Given the description of an element on the screen output the (x, y) to click on. 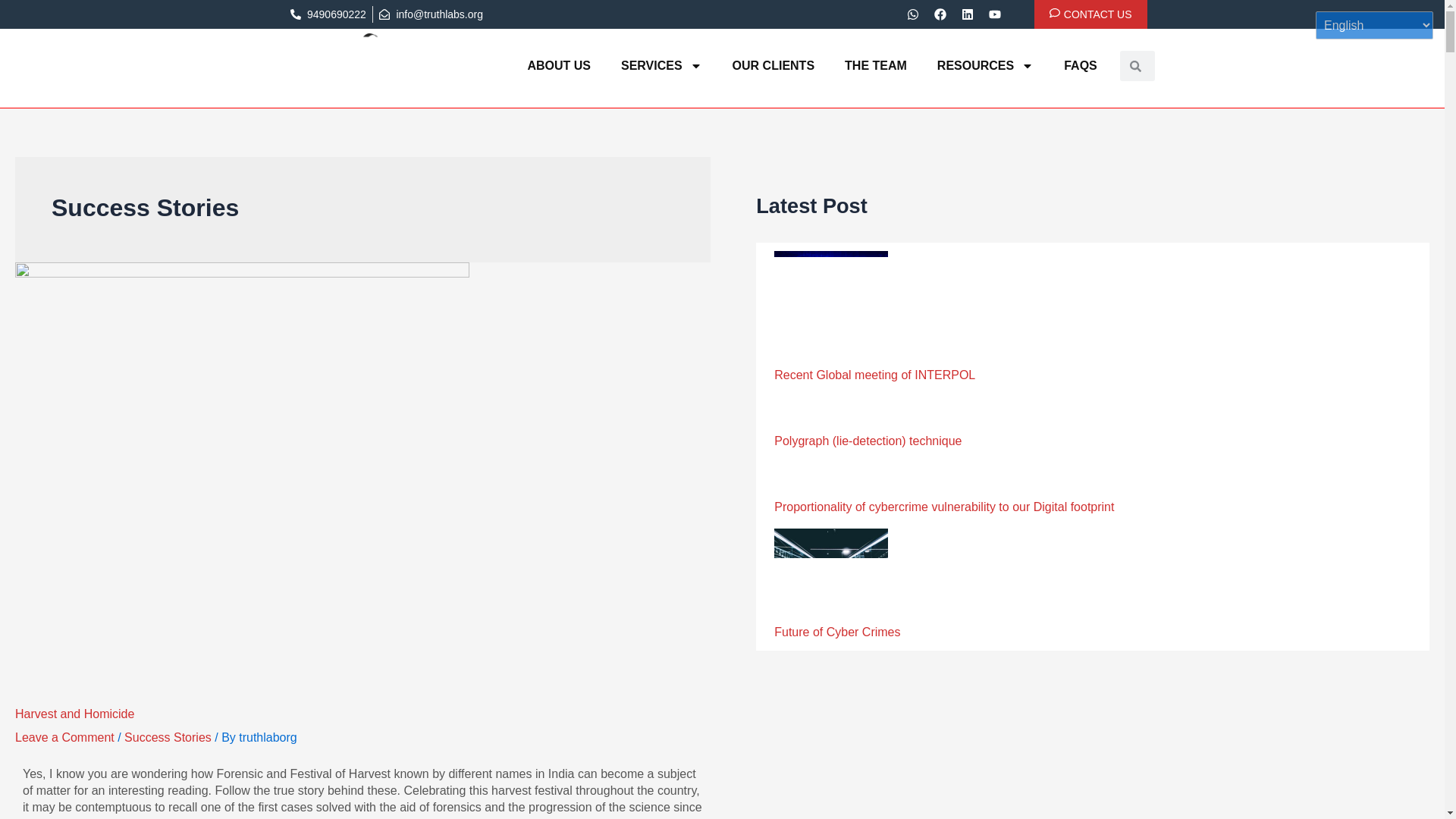
View all posts by truthlaborg (267, 737)
THE TEAM (875, 65)
Facebook (940, 14)
FAQS (1080, 65)
CONTACT US (1090, 14)
Linkedin (967, 14)
Whatsapp (912, 14)
ABOUT US (558, 65)
SERVICES (661, 65)
RESOURCES (984, 65)
OUR CLIENTS (773, 65)
Youtube (994, 14)
